Given the description of an element on the screen output the (x, y) to click on. 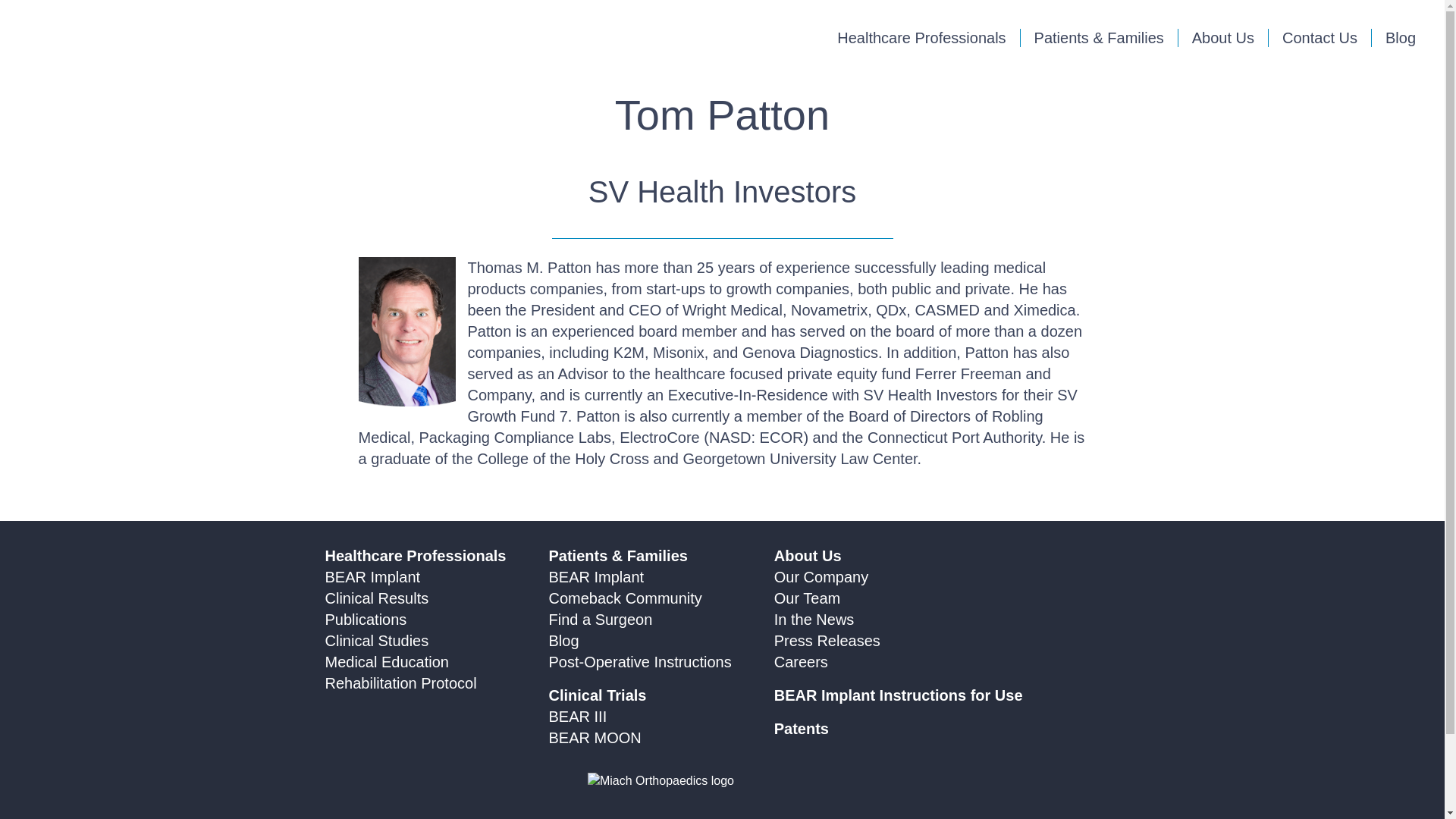
BEAR MOON (595, 737)
BEAR Implant (596, 576)
Clinical Studies (376, 640)
Publications (365, 619)
Our Company (821, 576)
Rehabilitation Protocol (400, 682)
Our Team (807, 597)
Contact Us (1319, 37)
BEAR III (577, 716)
Medical Education (386, 661)
